Given the description of an element on the screen output the (x, y) to click on. 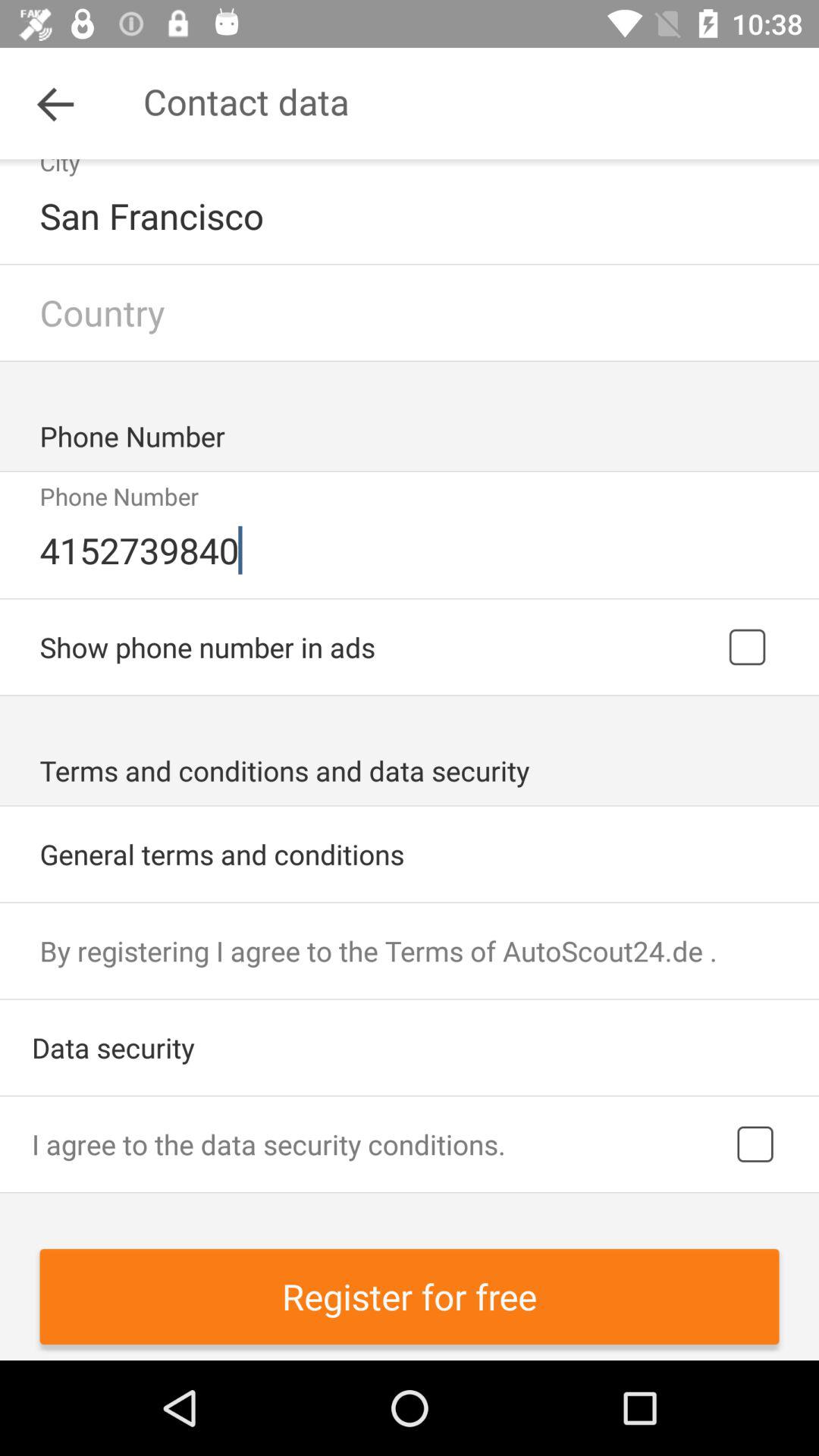
click icon to the left of the contact data icon (55, 103)
